Given the description of an element on the screen output the (x, y) to click on. 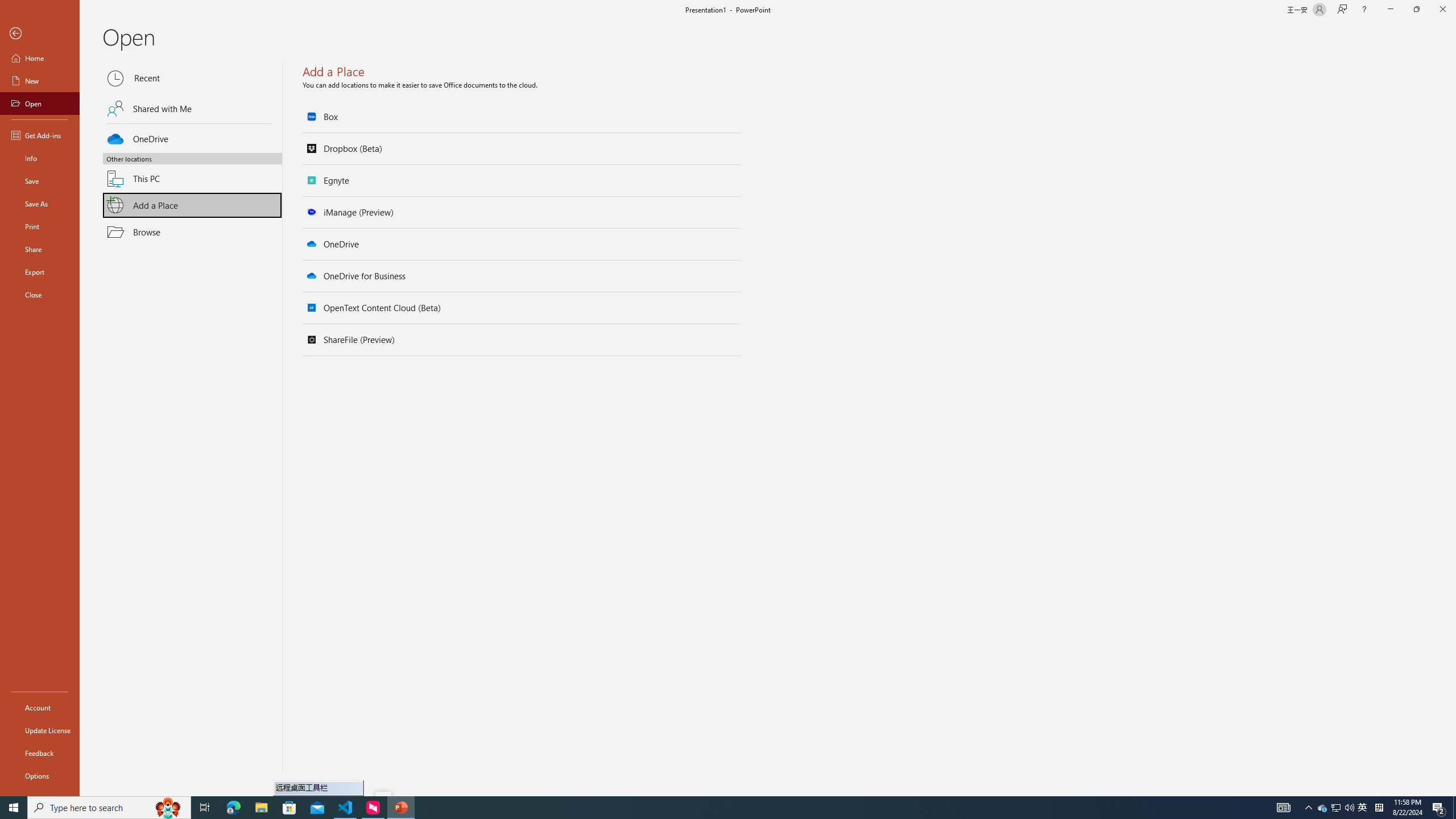
Info (40, 157)
Export (40, 271)
iManage (Preview) (521, 212)
Get Add-ins (40, 134)
ShareFile (Preview) (521, 340)
OpenText Content Cloud (Beta) (521, 308)
Open (192, 423)
OneDrive (521, 244)
Open (40, 102)
Add a Place (192, 204)
